Given the description of an element on the screen output the (x, y) to click on. 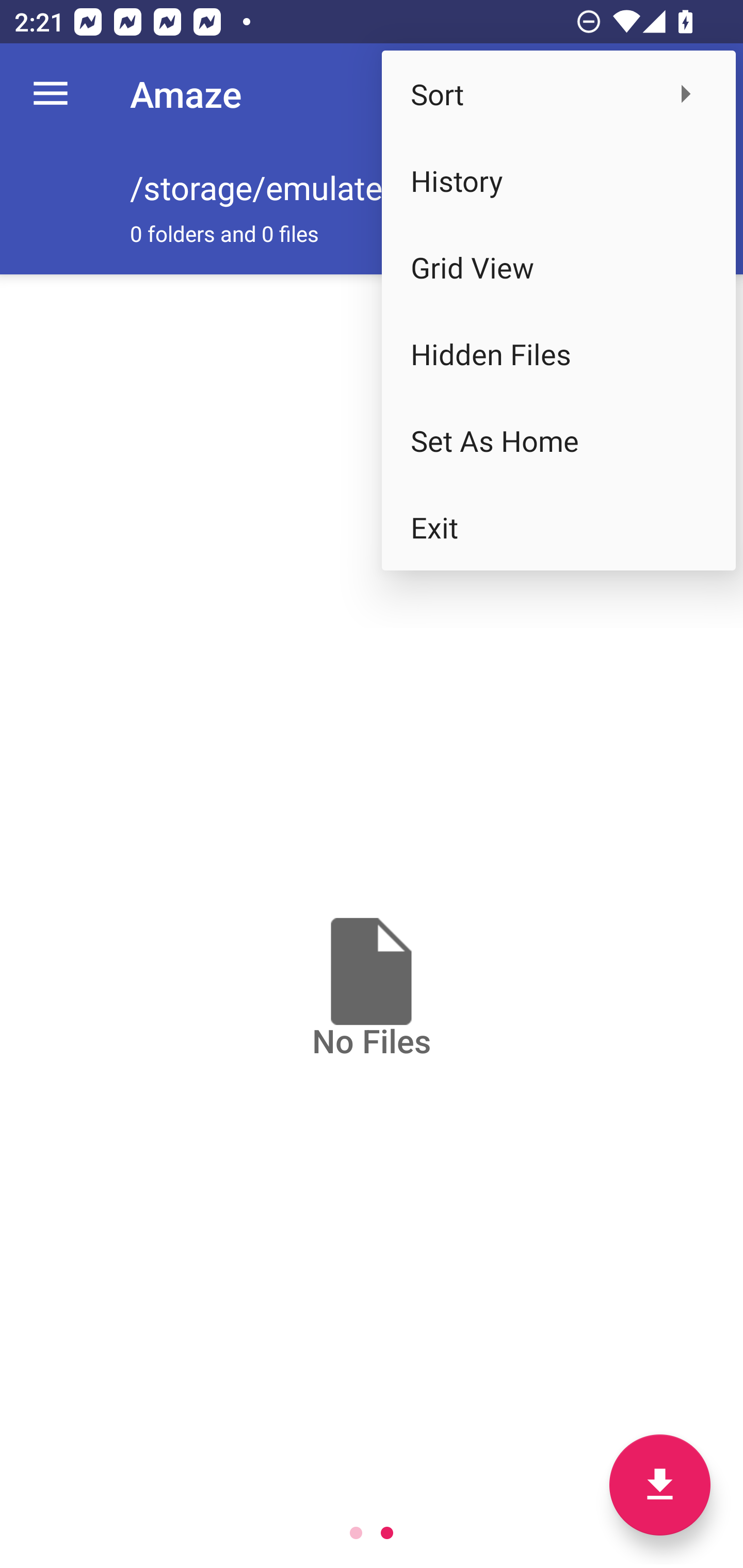
Sort (558, 93)
History (558, 180)
Grid View (558, 267)
Hidden Files (558, 353)
Set As Home (558, 440)
Exit (558, 527)
